Given the description of an element on the screen output the (x, y) to click on. 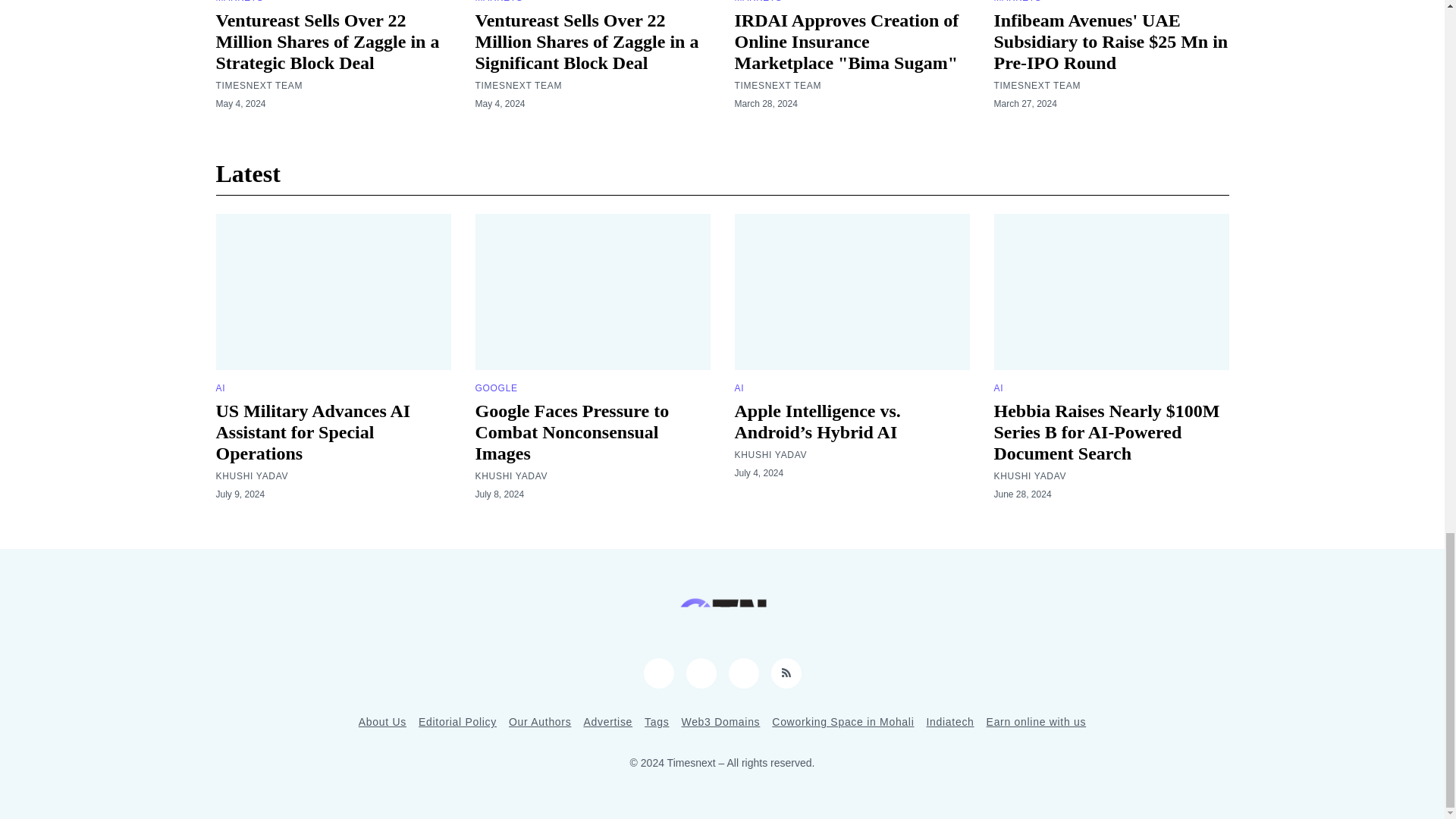
TIMESNEXT TEAM (777, 85)
TIMESNEXT TEAM (518, 85)
MARKETS (239, 1)
TIMESNEXT TEAM (258, 85)
MARKETS (757, 1)
MARKETS (498, 1)
